Given the description of an element on the screen output the (x, y) to click on. 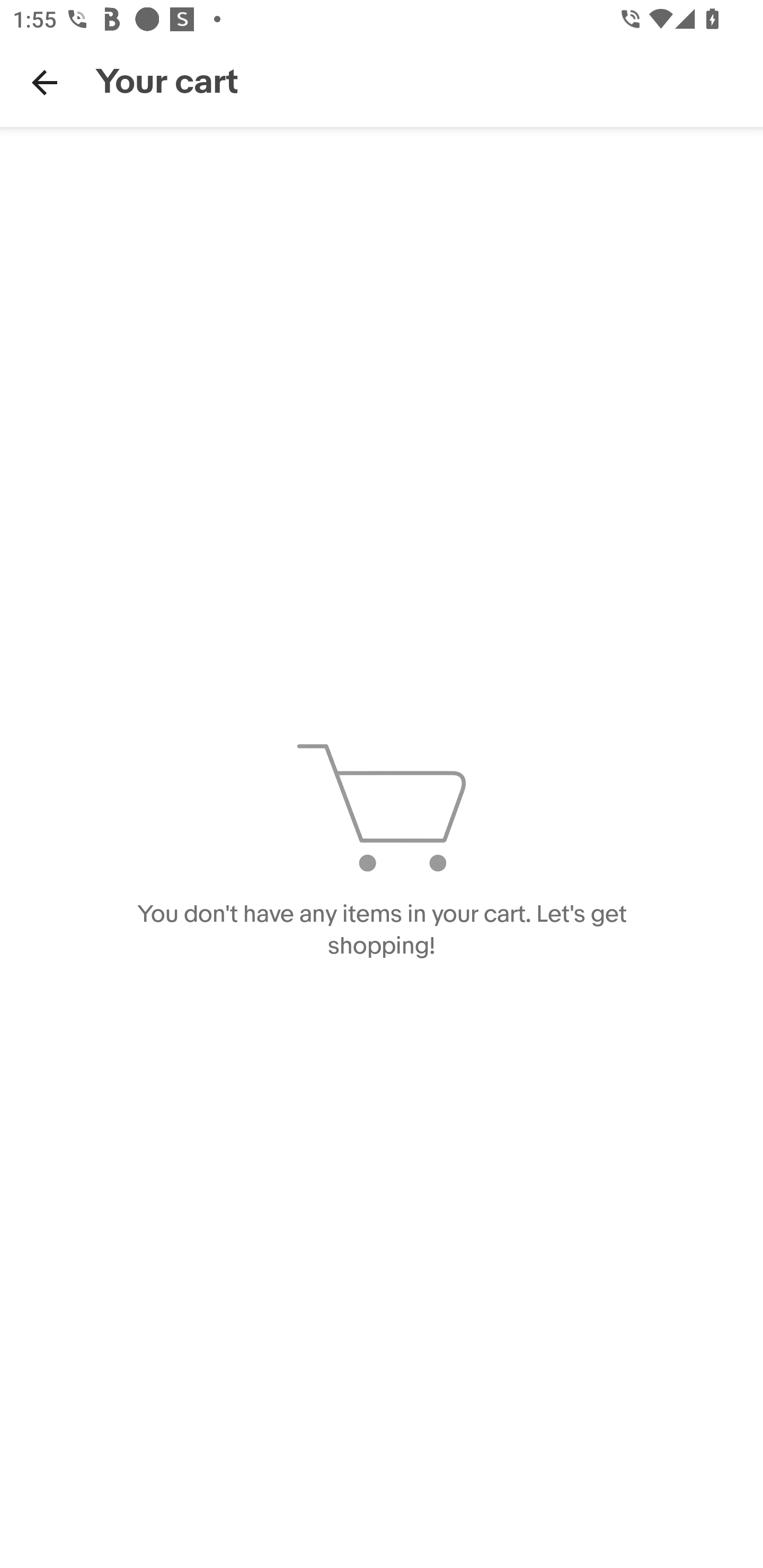
Navigate up (44, 82)
